Given the description of an element on the screen output the (x, y) to click on. 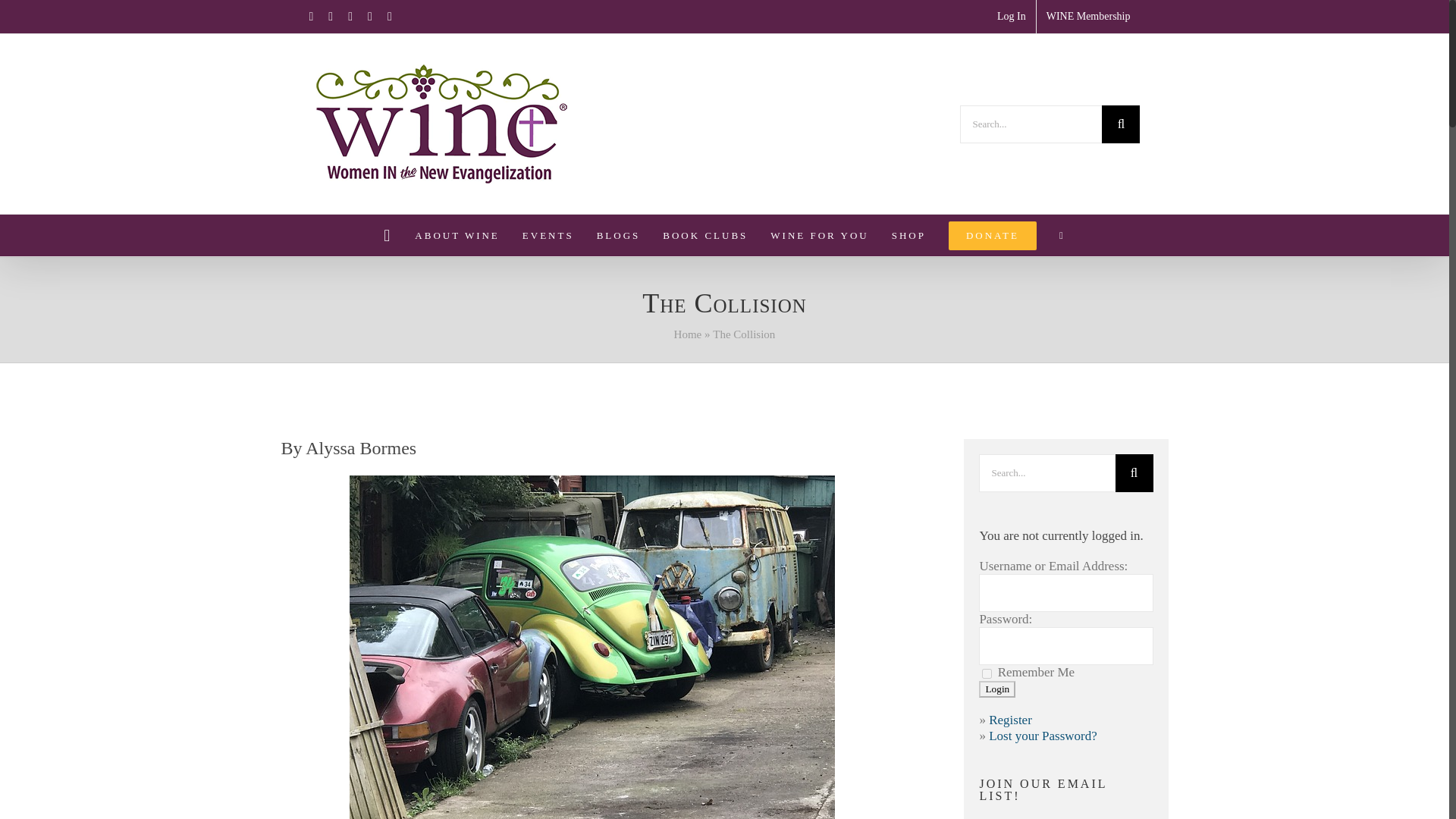
WINE FOR YOU (818, 235)
BOOK CLUBS (705, 235)
Login (996, 688)
BLOGS (618, 235)
Log In (1011, 16)
WINE Membership (1088, 16)
ABOUT WINE (456, 235)
forever (986, 673)
EVENTS (547, 235)
